Given the description of an element on the screen output the (x, y) to click on. 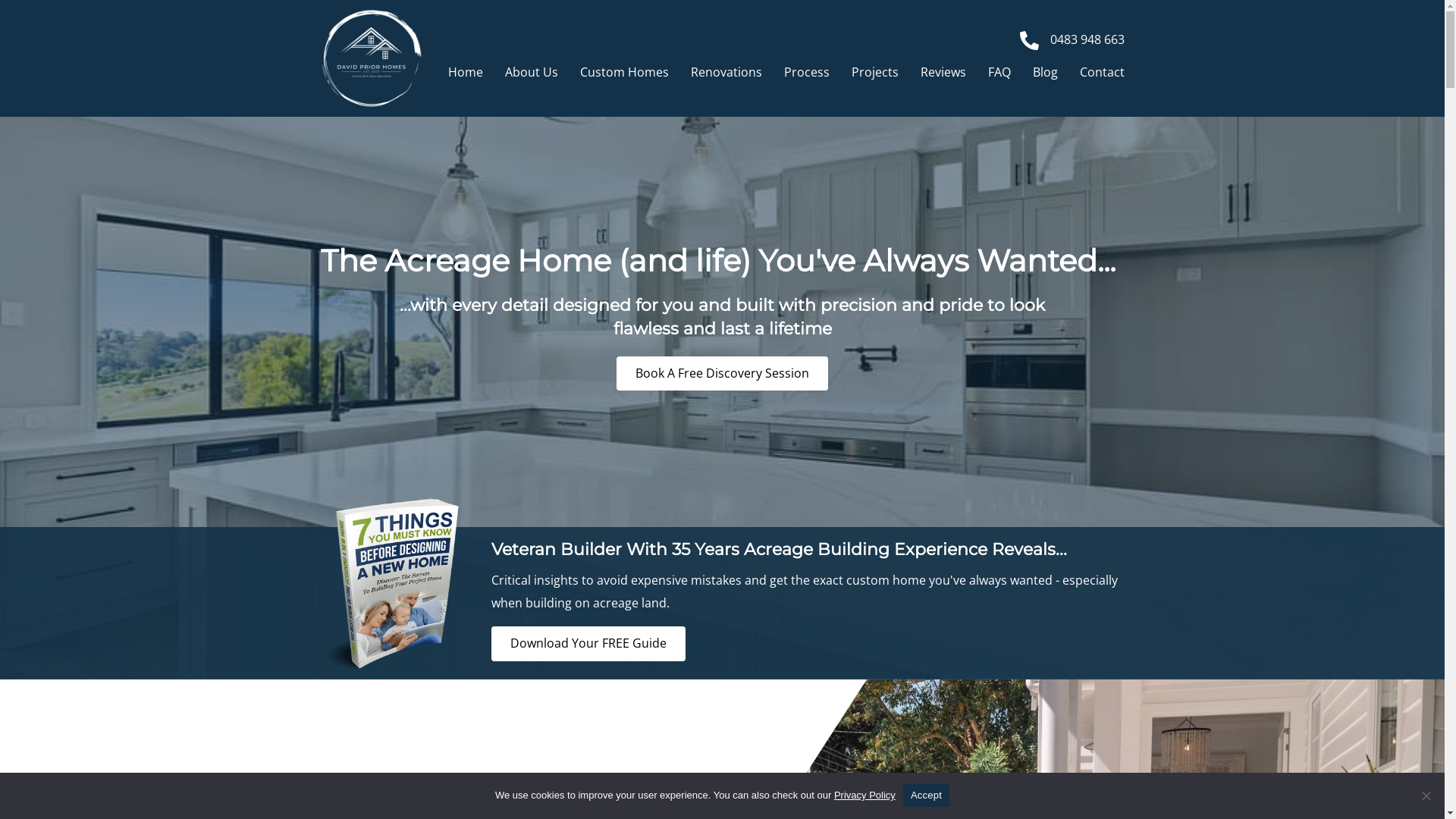
Process Element type: text (806, 71)
dp_circle-white-2048x2048 Element type: hover (370, 58)
Renovations Element type: text (725, 71)
Book A Free Discovery Session Element type: text (722, 373)
Custom Homes Element type: text (623, 71)
7ThingsCoverHigh-Res Element type: hover (390, 584)
About Us Element type: text (531, 71)
Contact Element type: text (1102, 71)
FAQ Element type: text (998, 71)
0483 948 663 Element type: text (1086, 39)
Accept Element type: text (926, 795)
Reviews Element type: text (943, 71)
No Element type: hover (1425, 795)
Download Your FREE Guide Element type: text (588, 643)
Privacy Policy Element type: text (864, 794)
Projects Element type: text (874, 71)
Home Element type: text (464, 71)
Blog Element type: text (1045, 71)
